Given the description of an element on the screen output the (x, y) to click on. 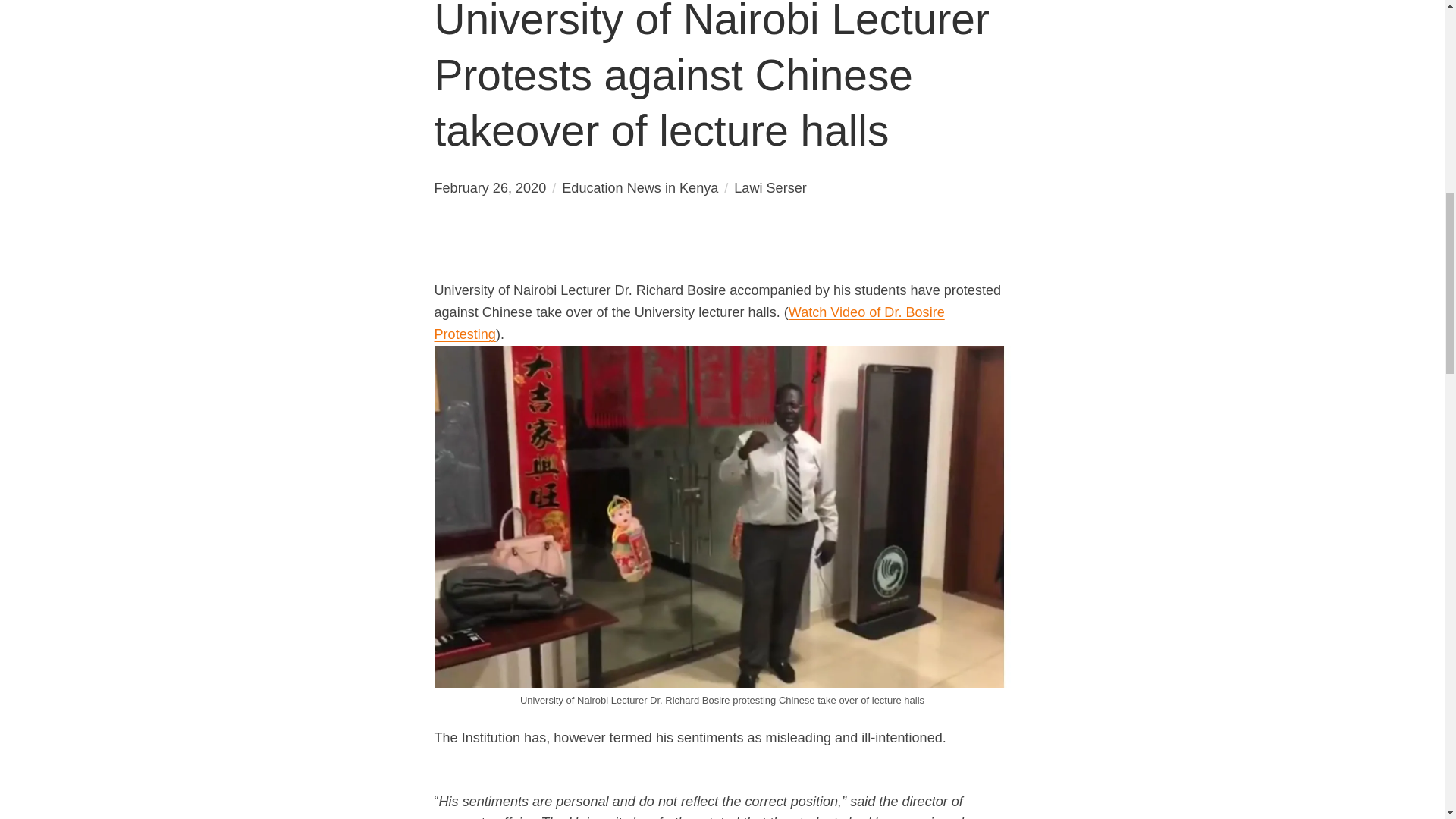
February 26, 2020 (489, 187)
Watch Video of Dr. Bosire Protesting (688, 323)
Education News in Kenya (639, 187)
